Given the description of an element on the screen output the (x, y) to click on. 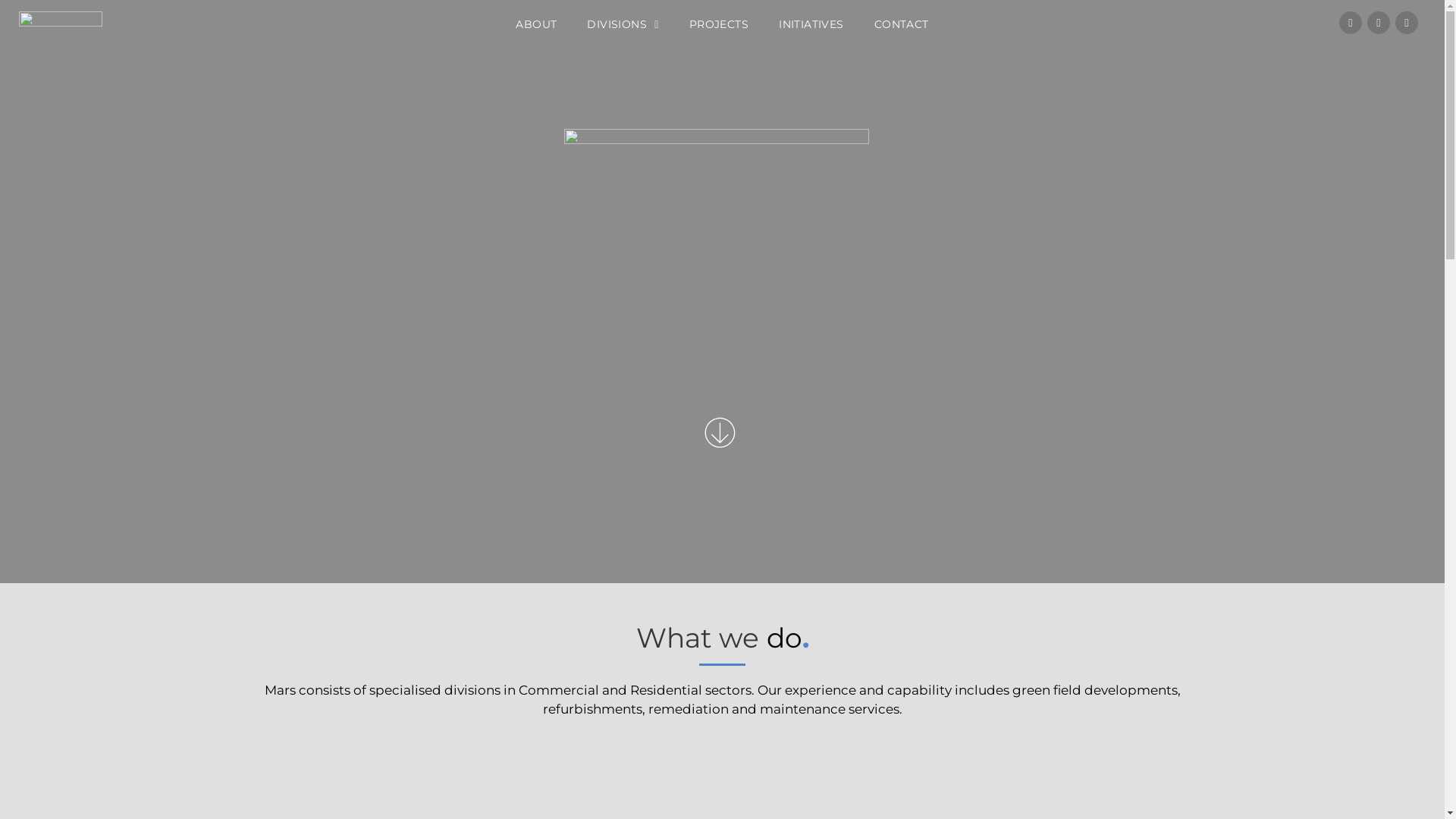
CONTACT Element type: text (901, 24)
INITIATIVES Element type: text (811, 24)
DIVISIONS Element type: text (622, 24)
PROJECTS Element type: text (718, 24)
ABOUT Element type: text (535, 24)
